Given the description of an element on the screen output the (x, y) to click on. 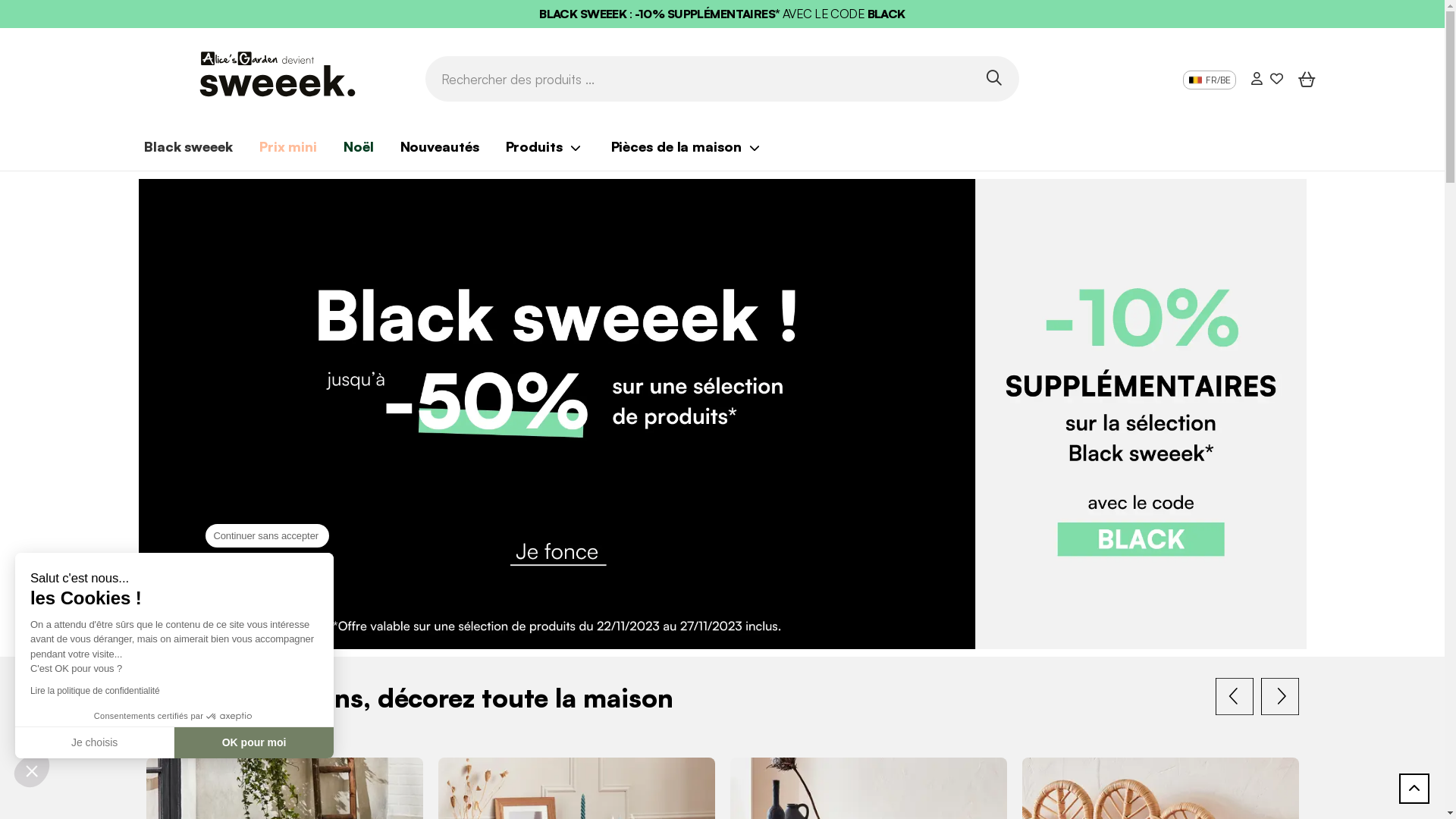
Next Element type: text (1279, 696)
Je choisis Element type: text (94, 742)
Black sweeek Element type: text (188, 146)
Fermer le widget sans consentement Element type: hover (31, 770)
OK pour moi Element type: text (253, 742)
Previous Element type: text (1233, 696)
